Given the description of an element on the screen output the (x, y) to click on. 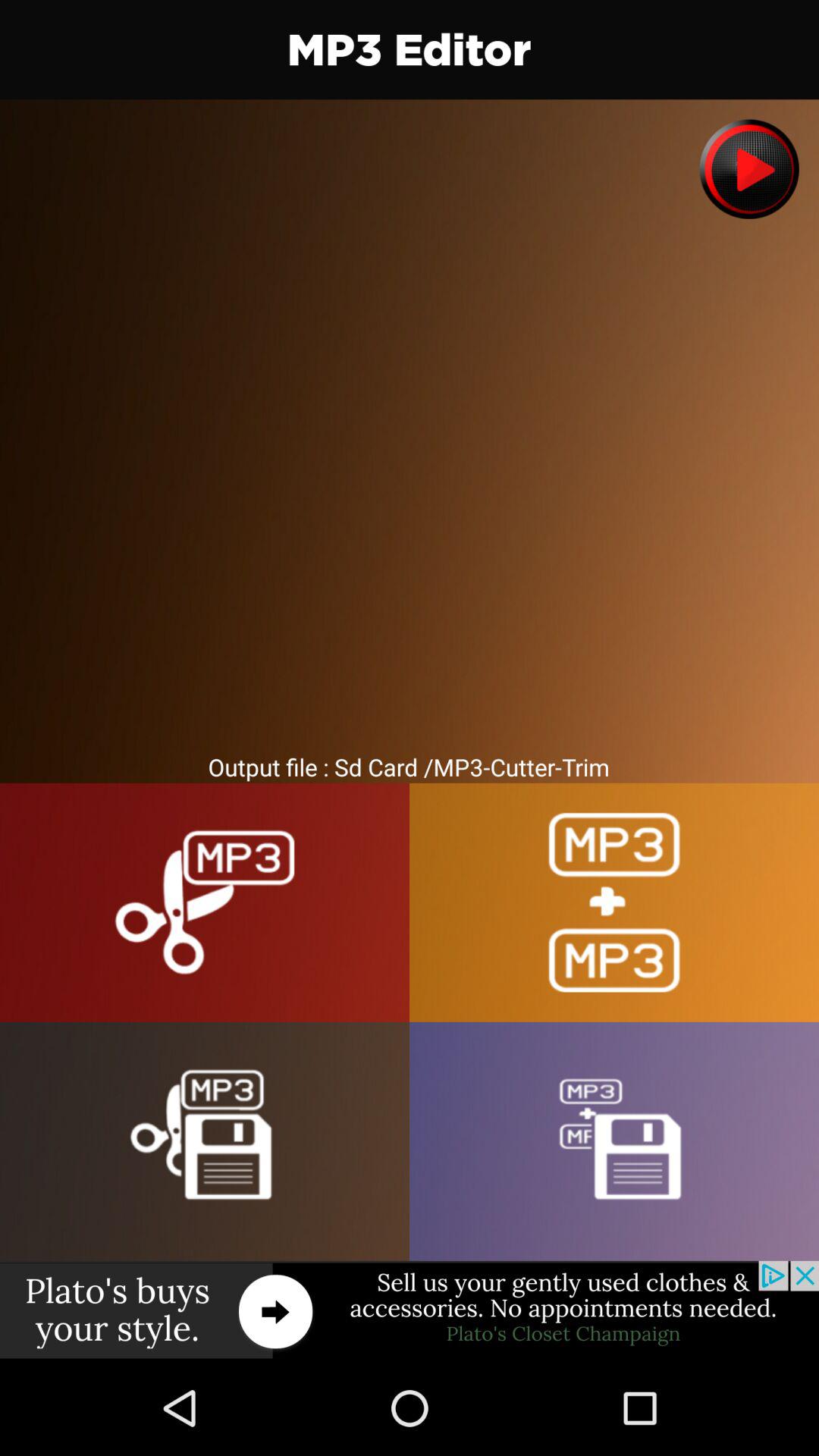
edit mp3 (204, 902)
